Given the description of an element on the screen output the (x, y) to click on. 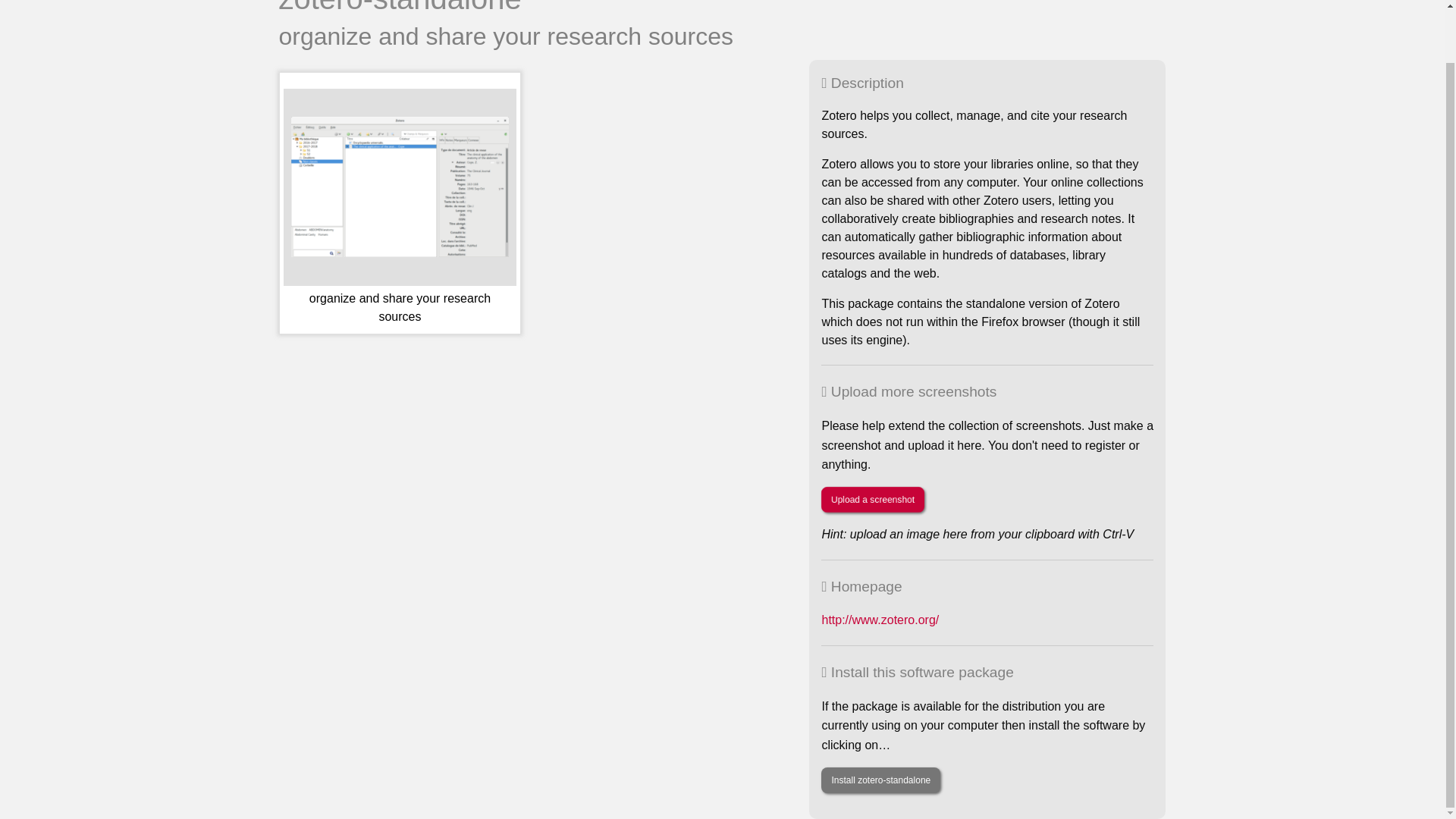
organize and share your research sources (399, 209)
Upload a screenshot (872, 499)
Install zotero-standalone (880, 780)
organize and share your research sources (399, 209)
